Given the description of an element on the screen output the (x, y) to click on. 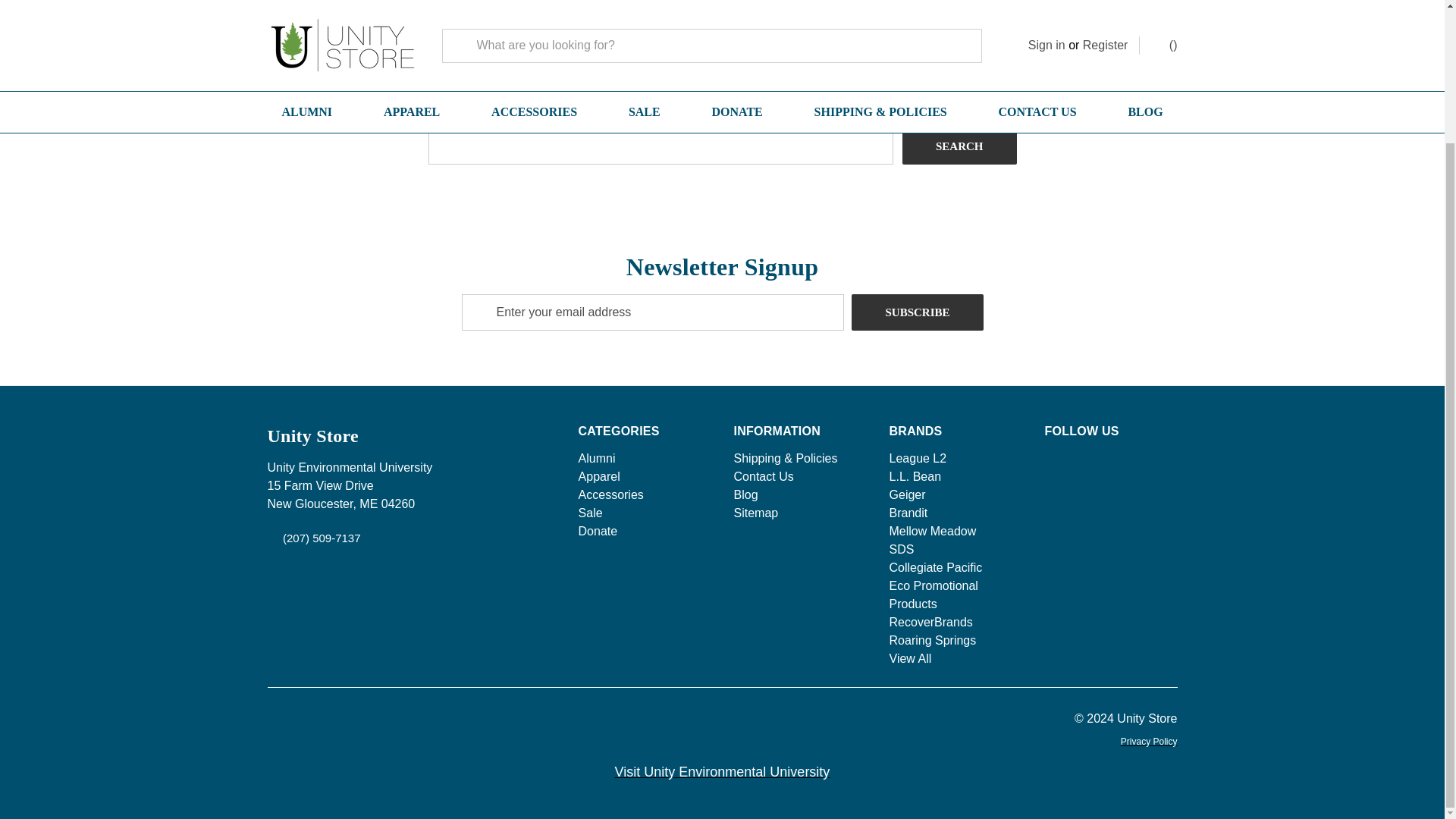
Home (280, 10)
Search (959, 145)
Error (317, 10)
Subscribe (916, 312)
